Given the description of an element on the screen output the (x, y) to click on. 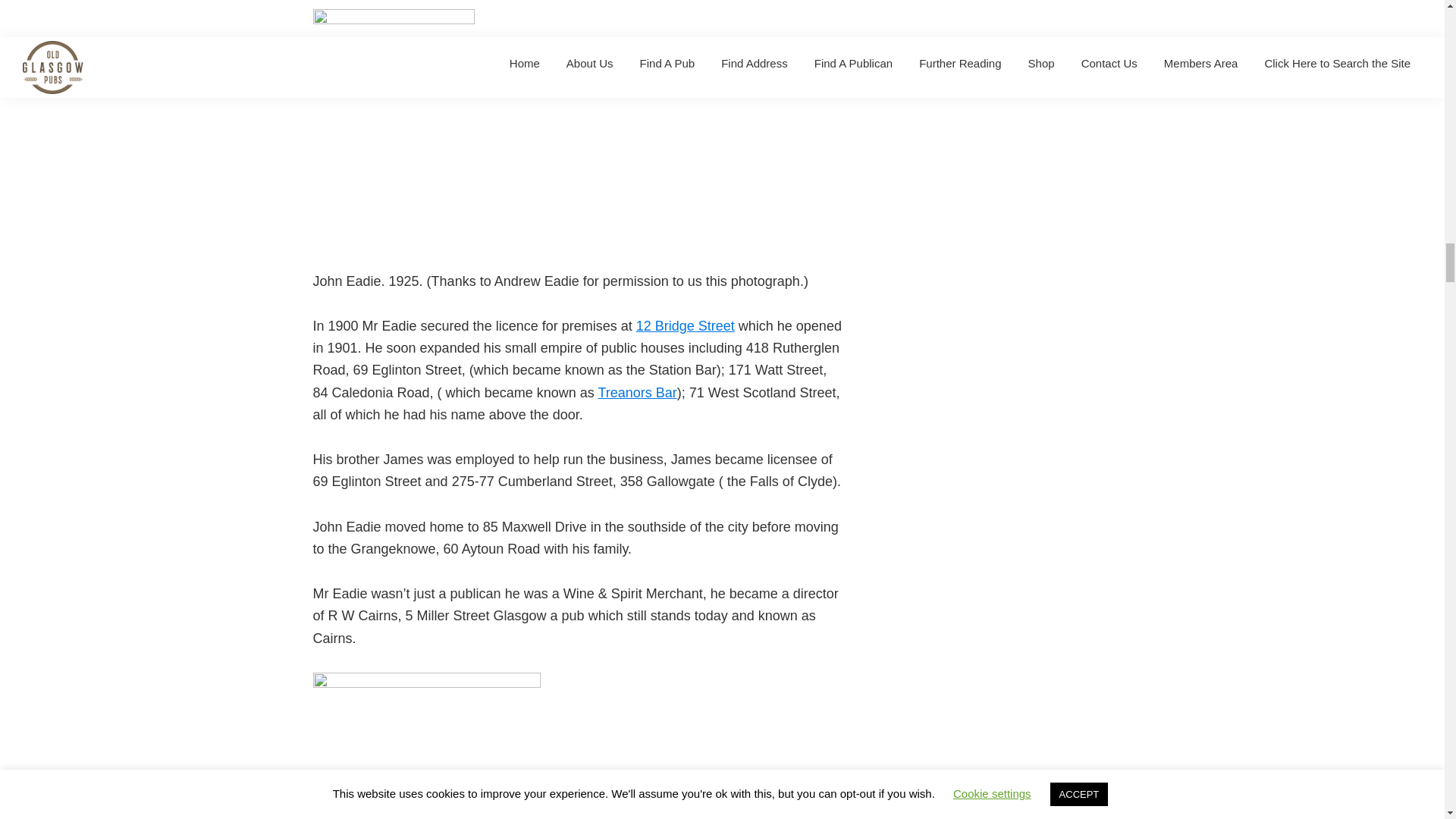
Treanors Bar (636, 392)
12 Bridge Street (685, 325)
